Given the description of an element on the screen output the (x, y) to click on. 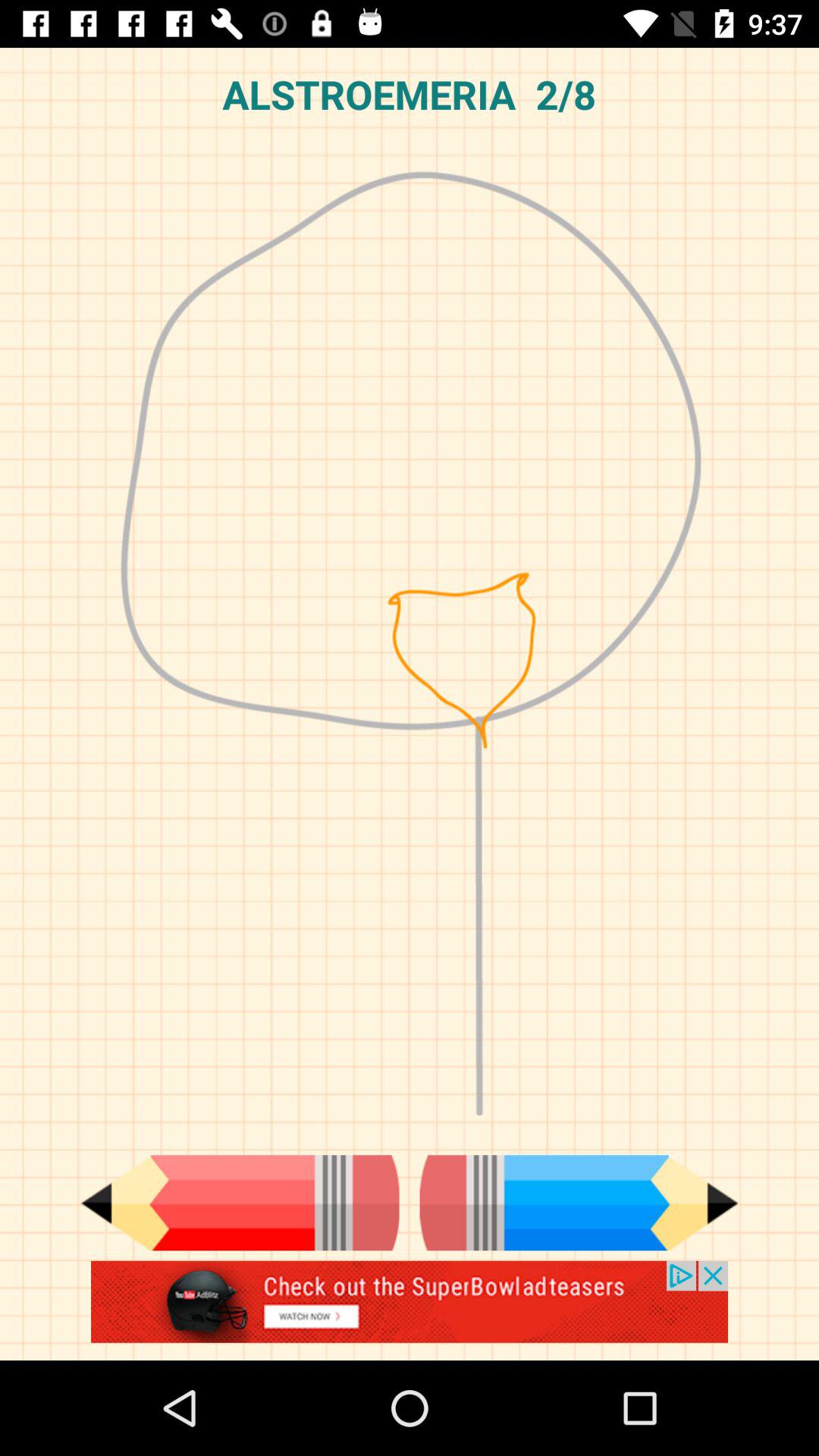
color blue (578, 1202)
